Given the description of an element on the screen output the (x, y) to click on. 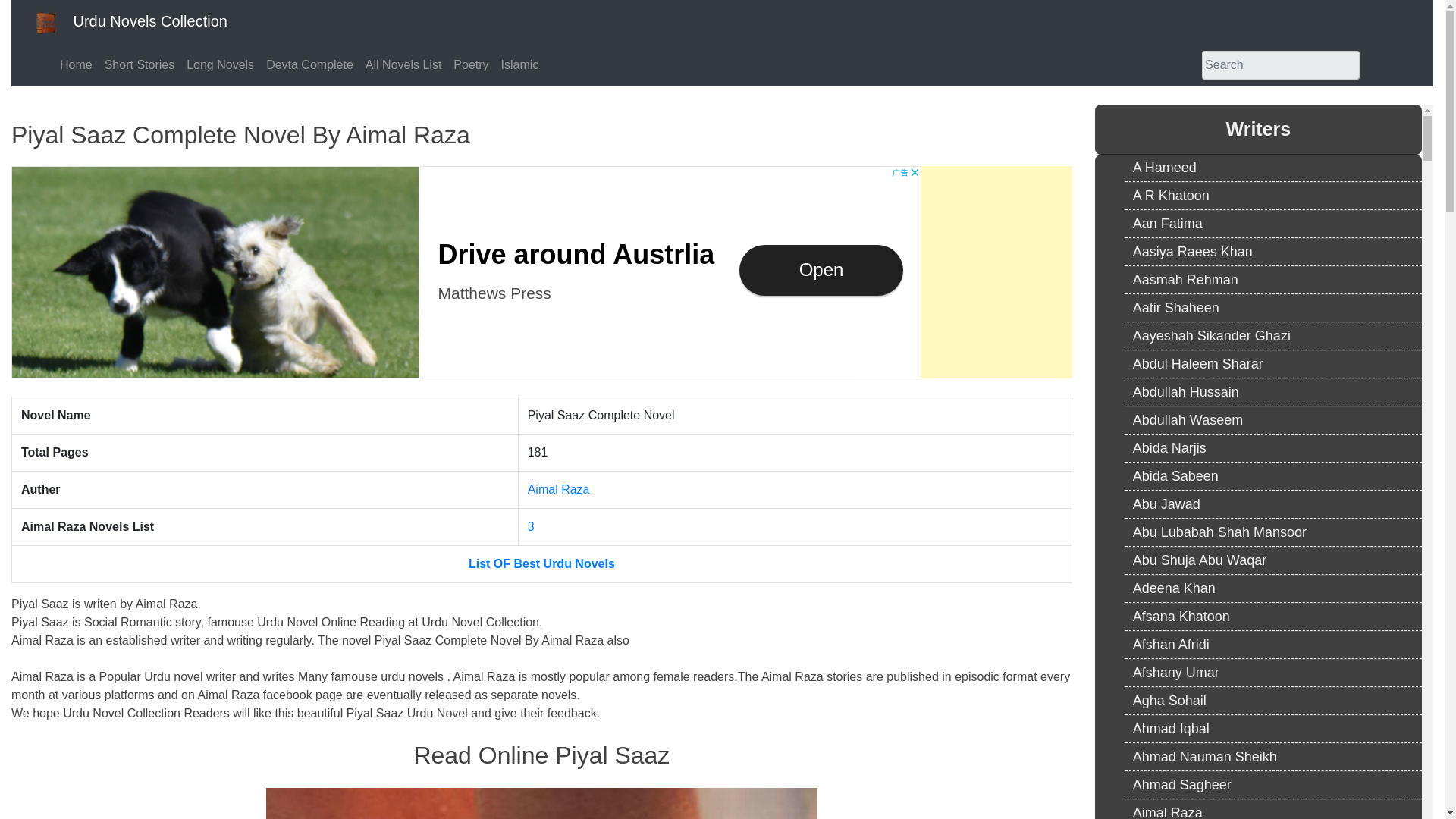
Devta Complete (309, 64)
Long Novels (220, 64)
Aan Fatima (1277, 223)
All Novels List (402, 64)
Abdullah Waseem (1277, 420)
Aimal Raza (558, 489)
Aasmah Rehman (1277, 279)
Islamic (519, 64)
Home (76, 64)
